Given the description of an element on the screen output the (x, y) to click on. 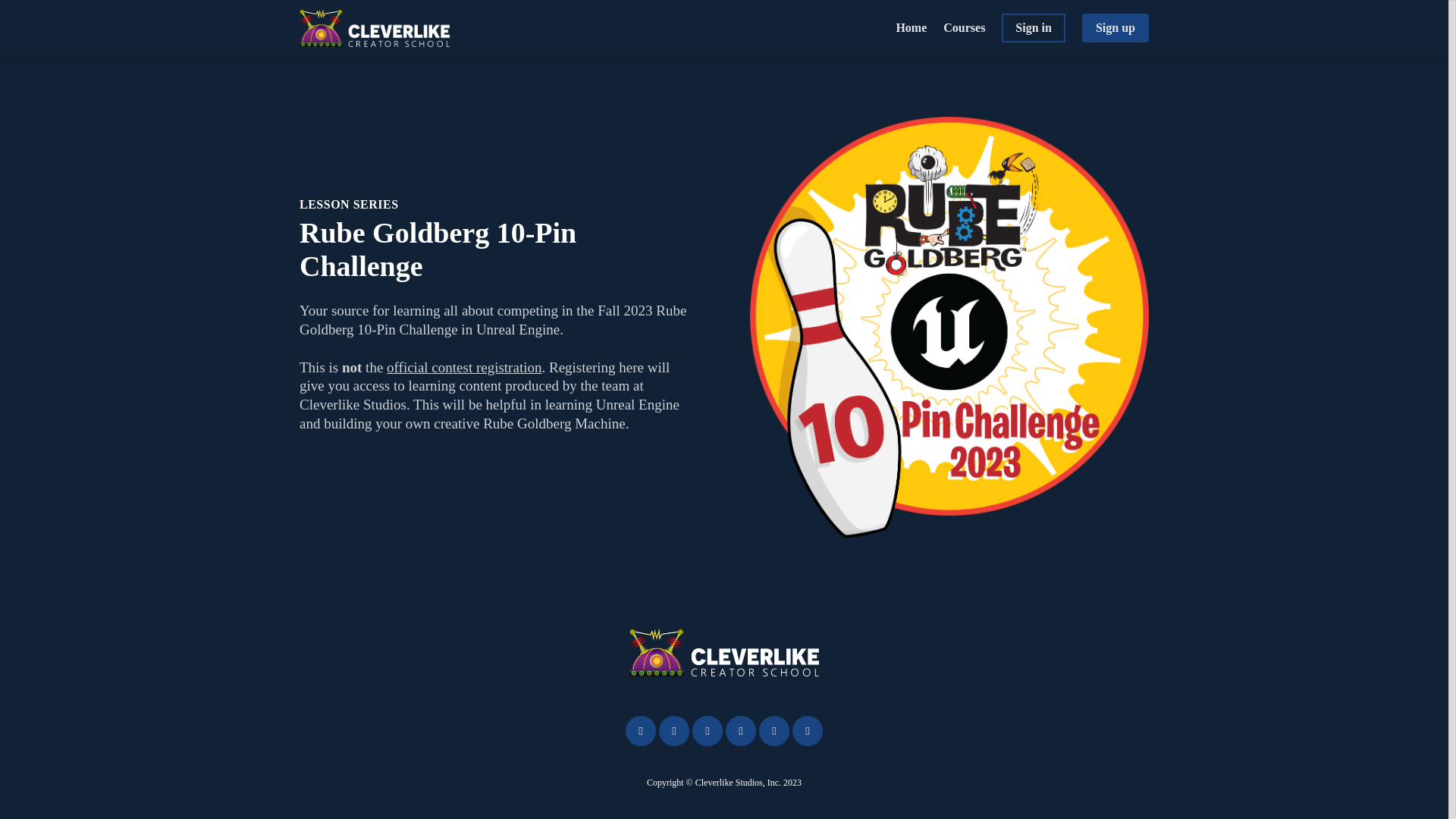
Courses (964, 27)
Sign up (1114, 27)
Home (910, 27)
Sign in (1033, 27)
official contest registration (464, 367)
